Given the description of an element on the screen output the (x, y) to click on. 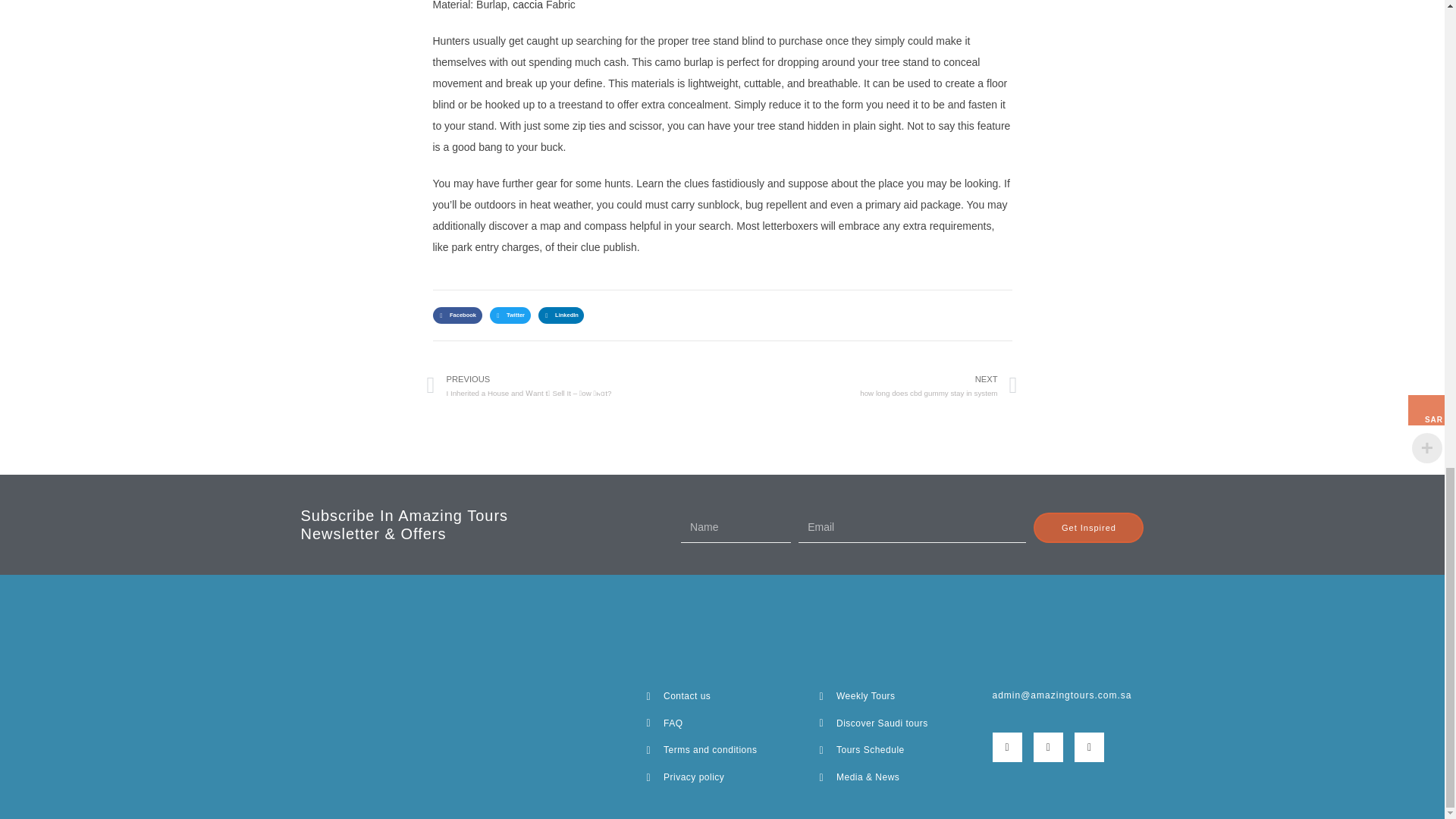
FAQ (721, 723)
Terms and conditions (721, 750)
Privacy policy (869, 385)
Get Inspired (721, 777)
Contact us (1087, 527)
caccia (721, 696)
